Given the description of an element on the screen output the (x, y) to click on. 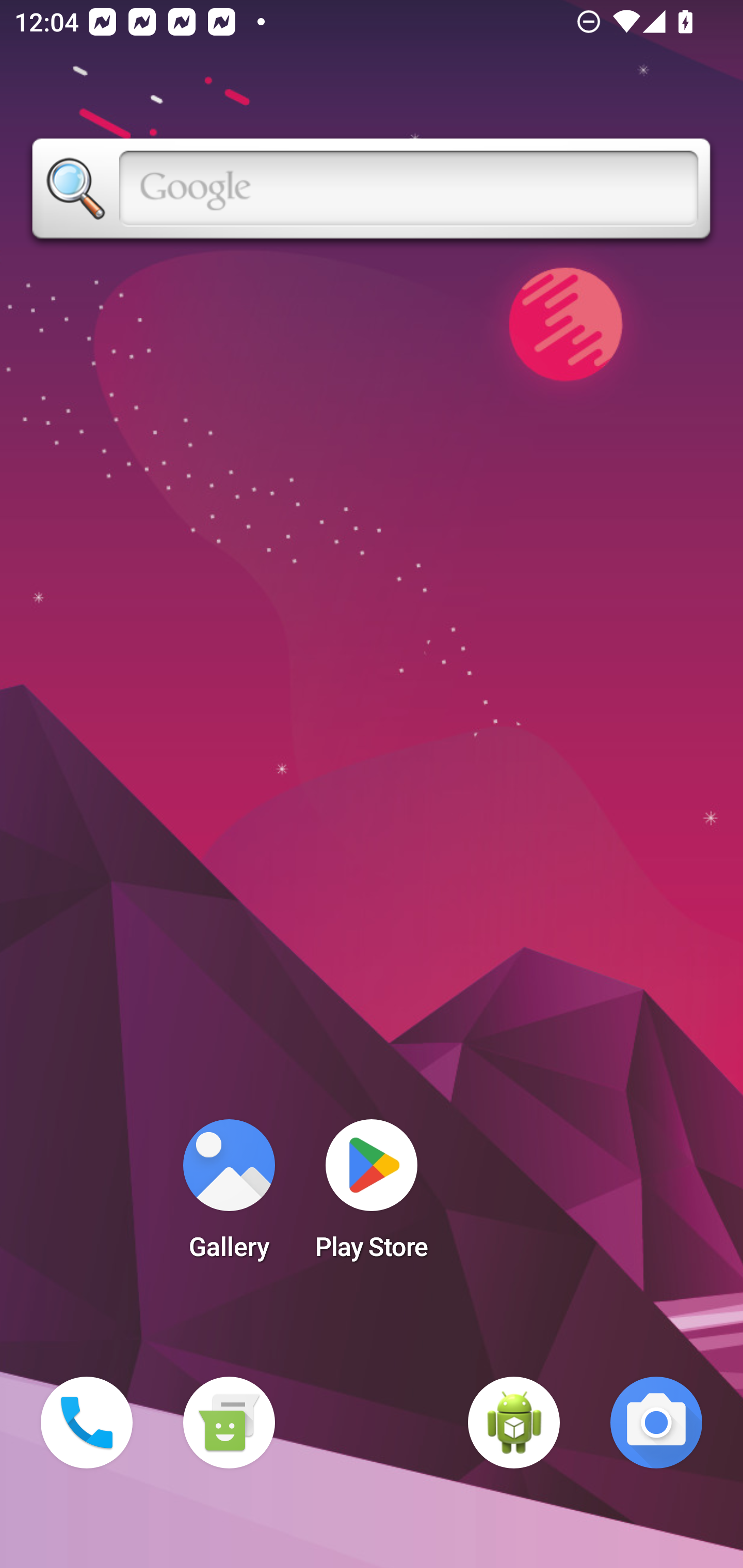
Gallery (228, 1195)
Play Store (371, 1195)
Phone (86, 1422)
Messaging (228, 1422)
WebView Browser Tester (513, 1422)
Camera (656, 1422)
